Given the description of an element on the screen output the (x, y) to click on. 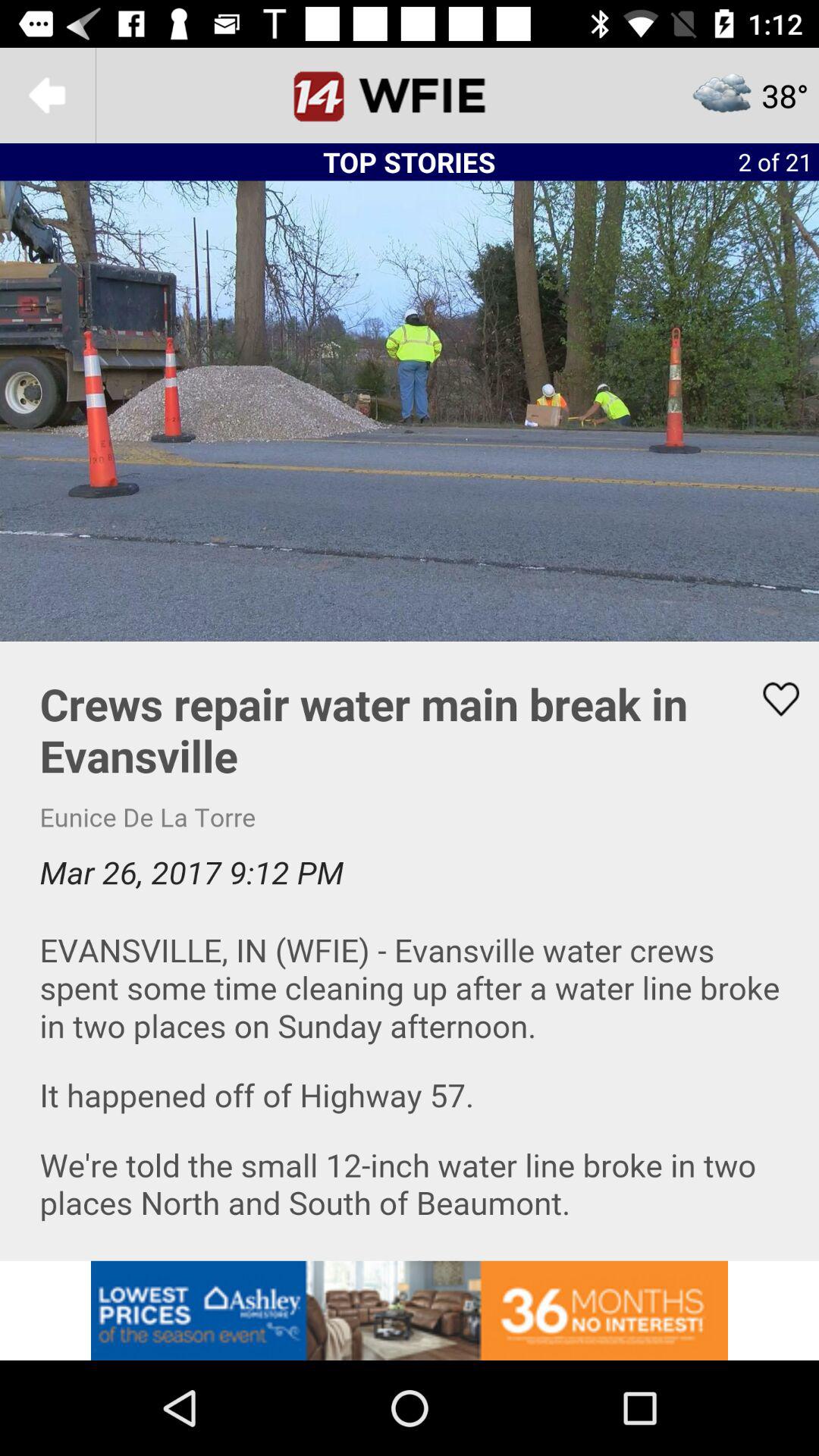
go to the home page screen (409, 95)
